Given the description of an element on the screen output the (x, y) to click on. 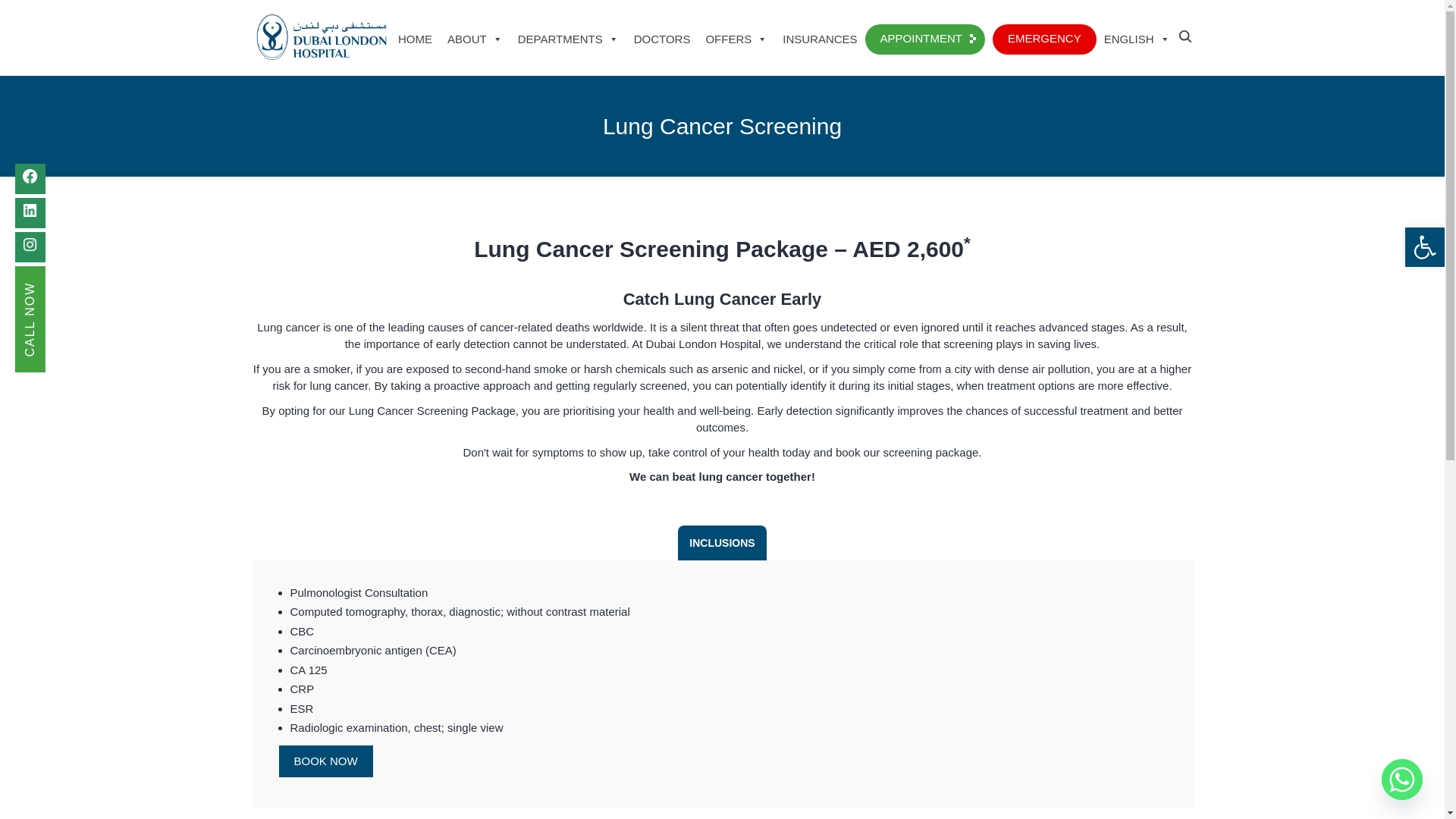
English (1136, 39)
Accessibility Tools (1424, 247)
DEPARTMENTS (568, 39)
HOME (414, 39)
ABOUT (475, 39)
